Given the description of an element on the screen output the (x, y) to click on. 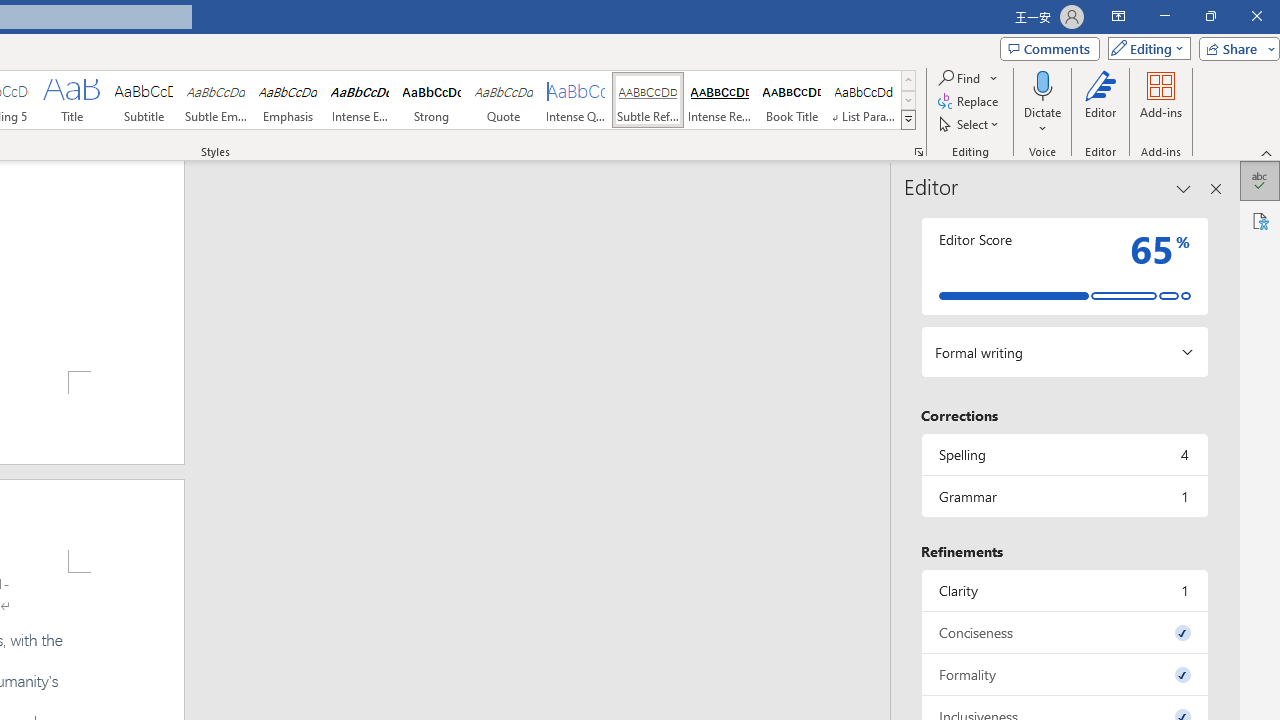
Book Title (792, 100)
Emphasis (287, 100)
Clarity, 1 issue. Press space or enter to review items. (1064, 590)
